Given the description of an element on the screen output the (x, y) to click on. 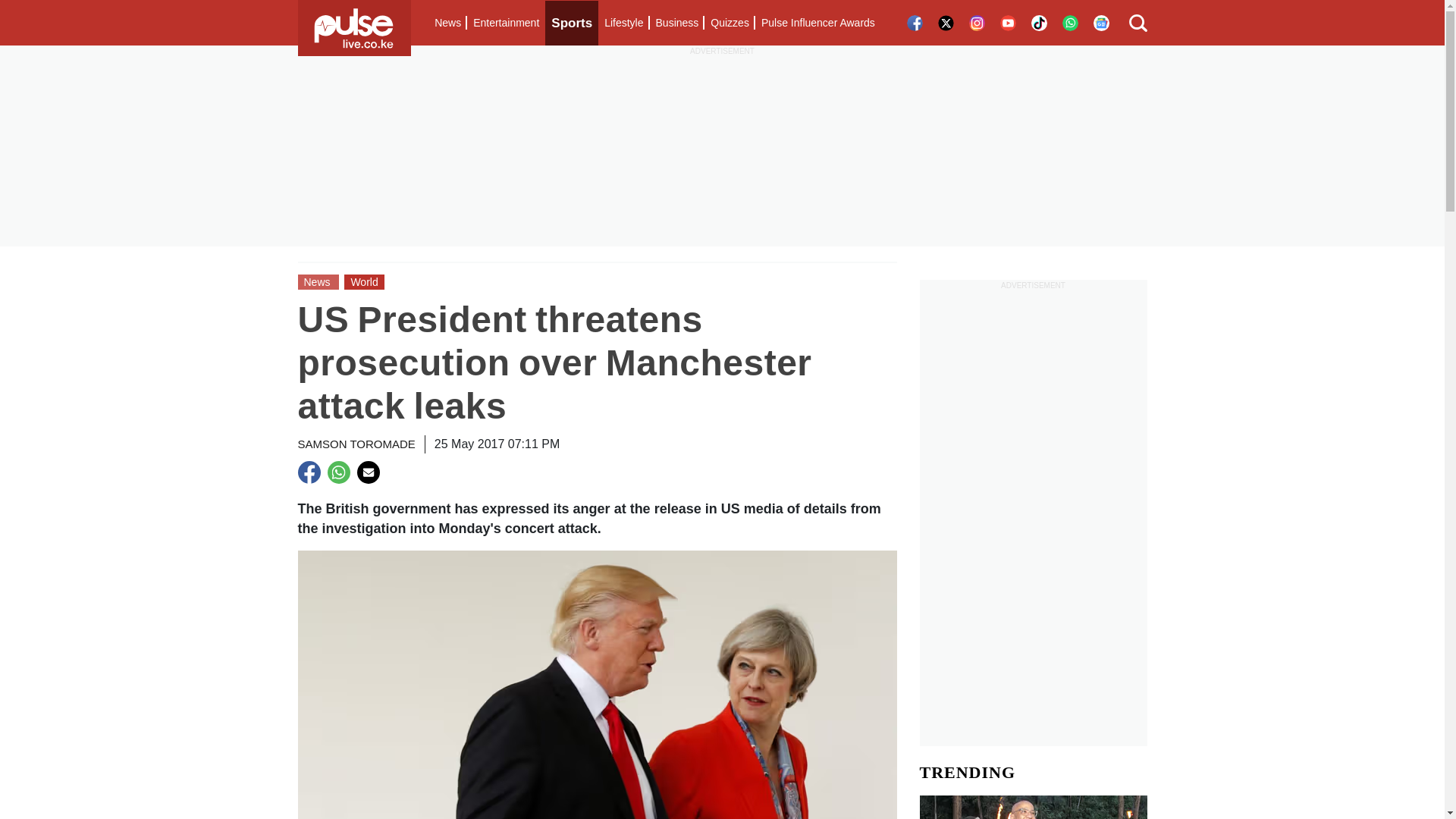
Business (676, 22)
Pulse Influencer Awards (817, 22)
Entertainment (505, 22)
Lifestyle (623, 22)
Quizzes (729, 22)
Sports (571, 22)
